Given the description of an element on the screen output the (x, y) to click on. 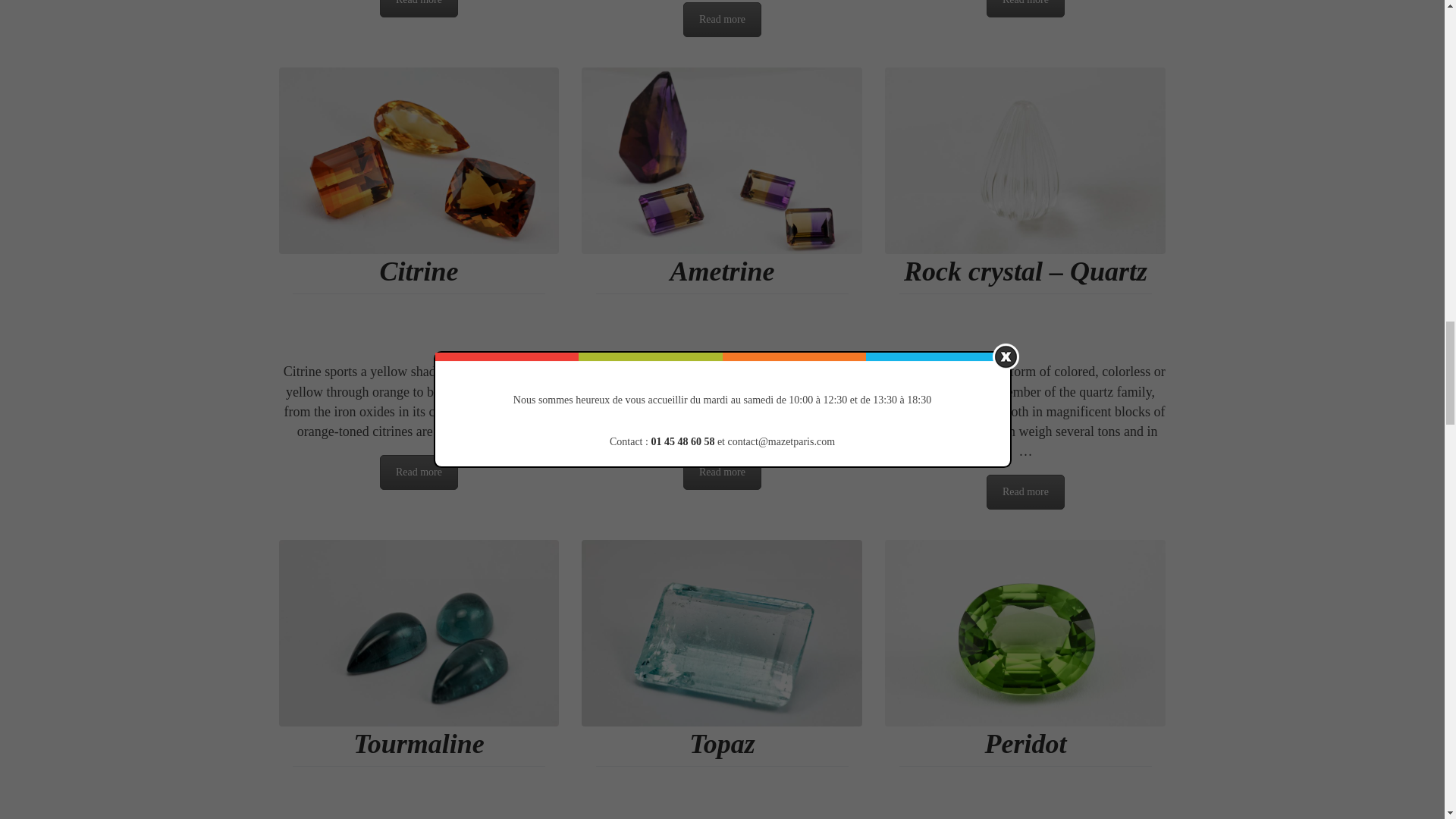
Lire la suite (419, 8)
Lire la suite (1025, 8)
Lire la suite (721, 472)
Lire la suite (721, 19)
Lire la suite (419, 472)
Lire la suite (1025, 492)
